Given the description of an element on the screen output the (x, y) to click on. 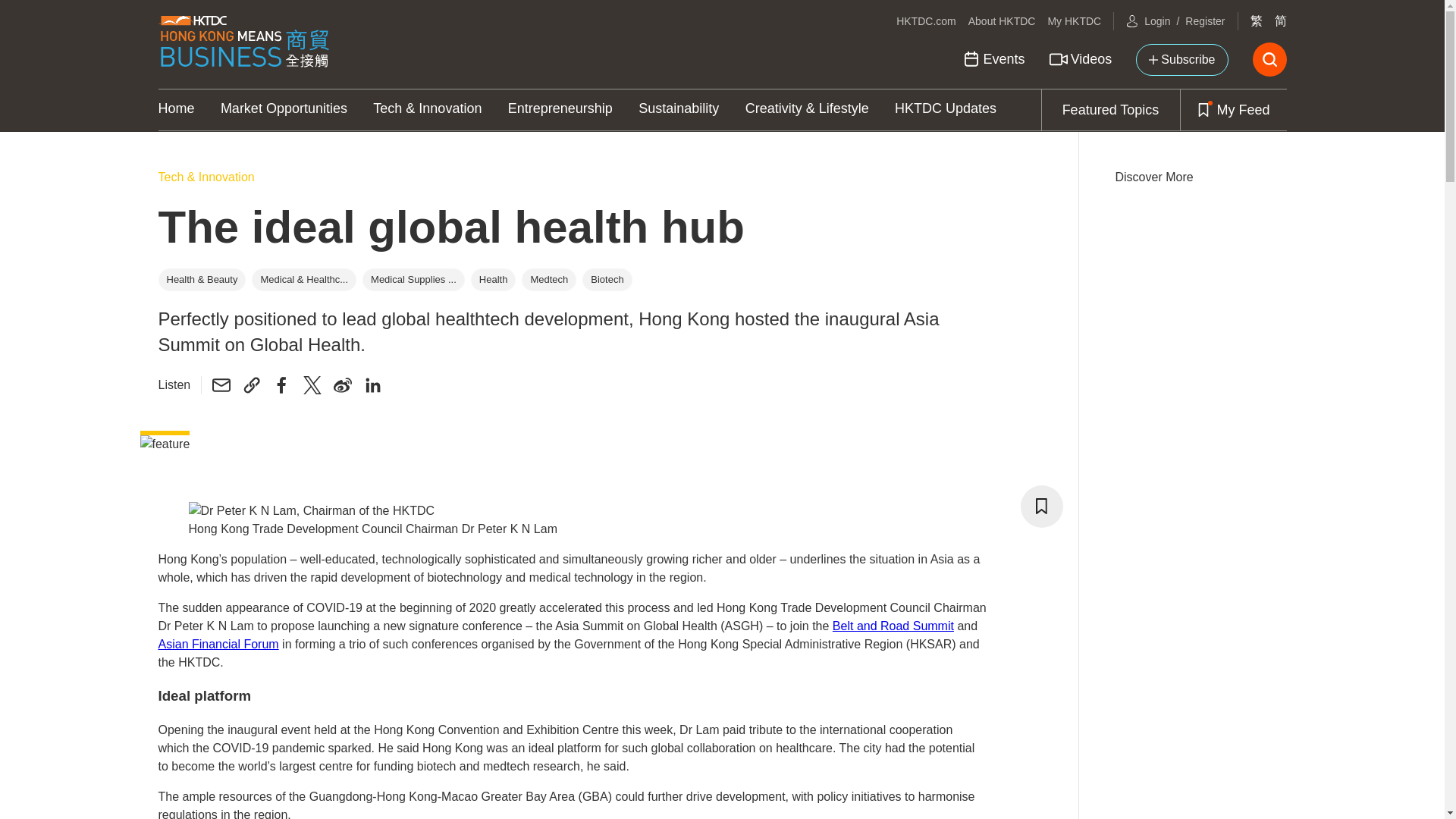
Events (993, 59)
Sustainability (679, 109)
My Feed (1232, 109)
HKTDC.com (926, 21)
Health (493, 279)
Medical Supplies ... (413, 279)
Featured Topics (1110, 109)
Medtech (548, 279)
Subscribe (1181, 60)
Entrepreneurship (560, 109)
Biotech (607, 279)
About HKTDC (1001, 21)
My HKTDC (1073, 21)
Dr Peter K N Lam, Chairman of the HKTDC (310, 511)
Home (175, 109)
